Given the description of an element on the screen output the (x, y) to click on. 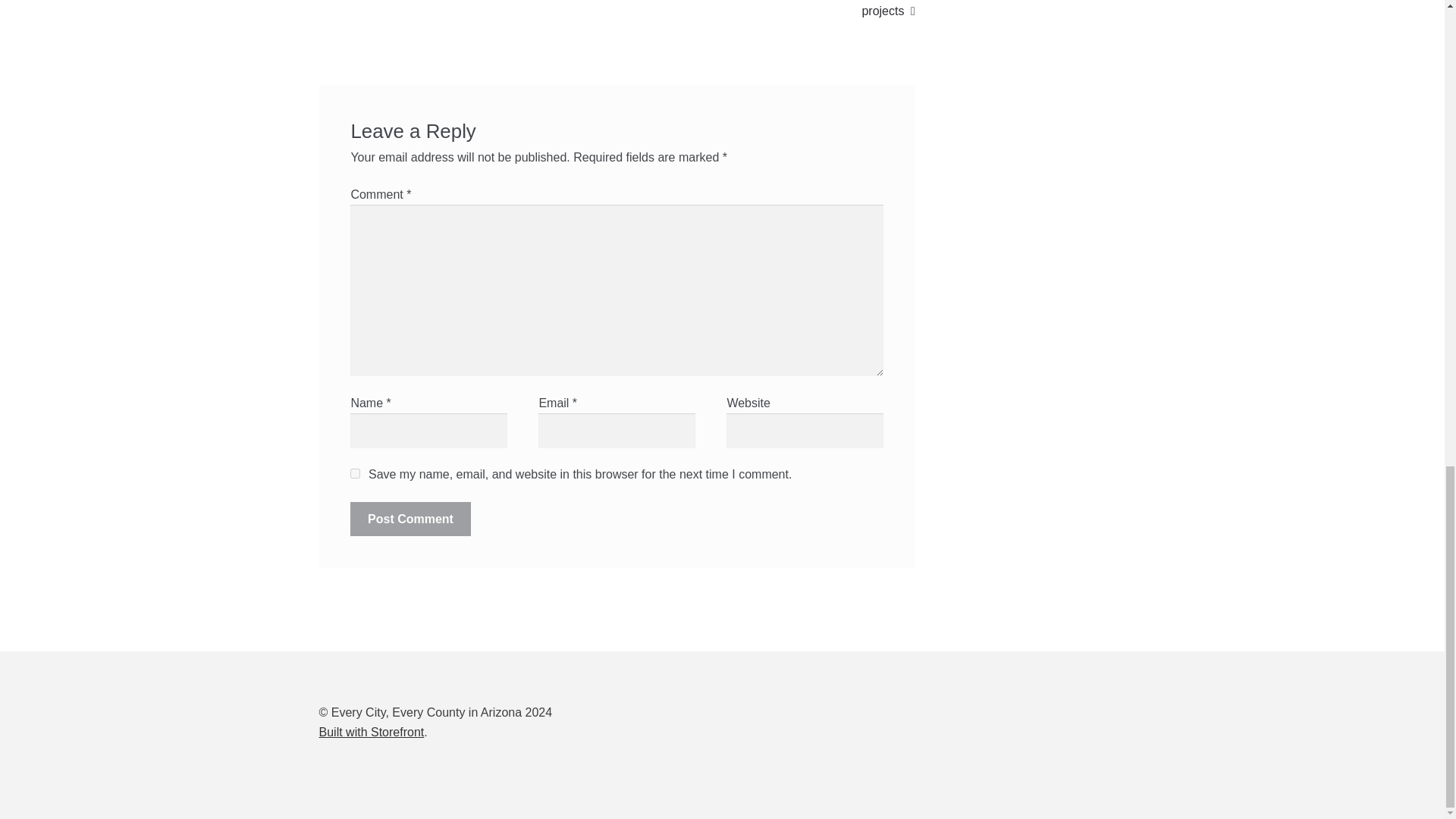
Post Comment (410, 519)
Post Comment (410, 519)
Built with Storefront (371, 731)
